Given the description of an element on the screen output the (x, y) to click on. 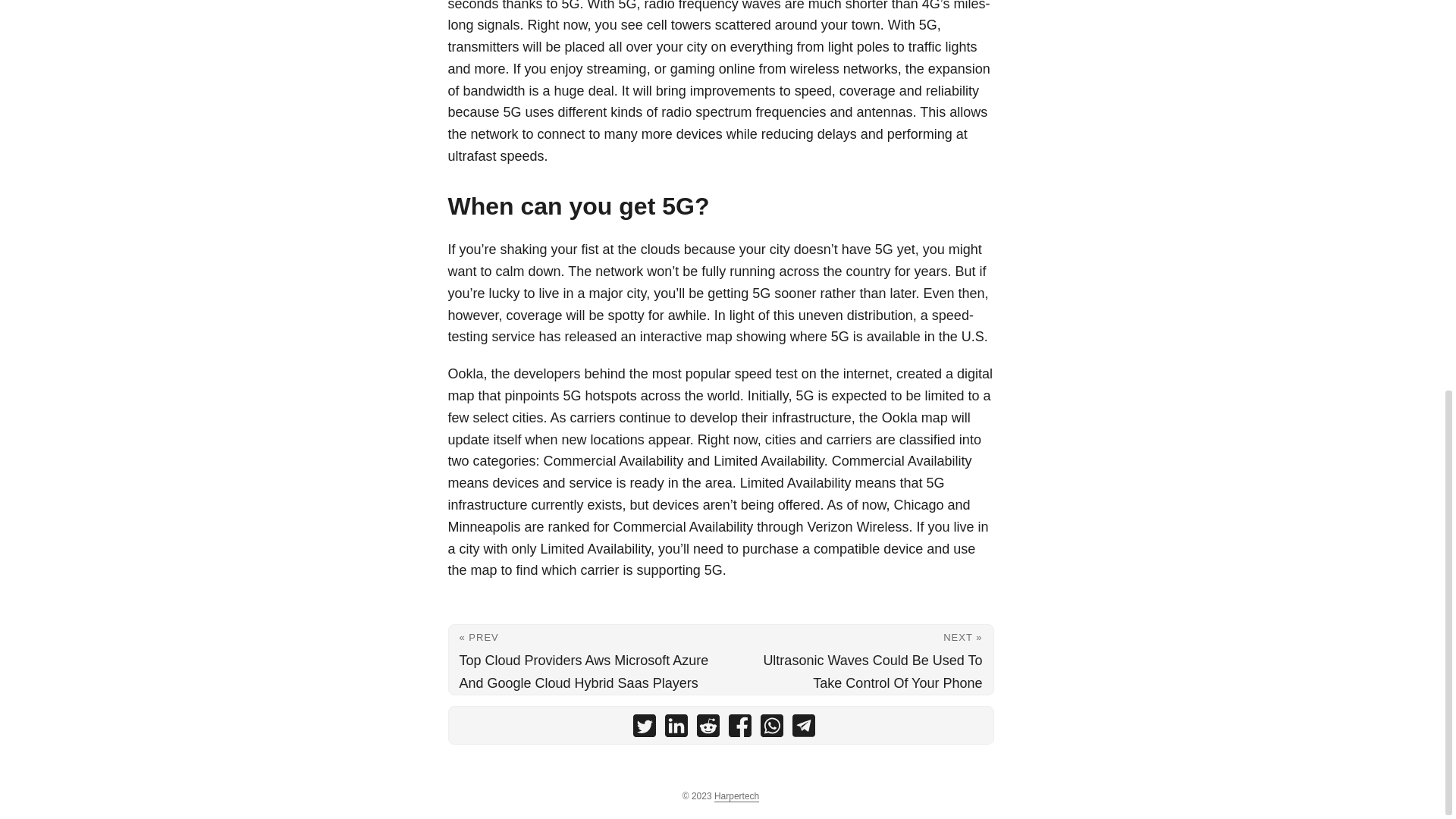
Harpertech (736, 796)
